Given the description of an element on the screen output the (x, y) to click on. 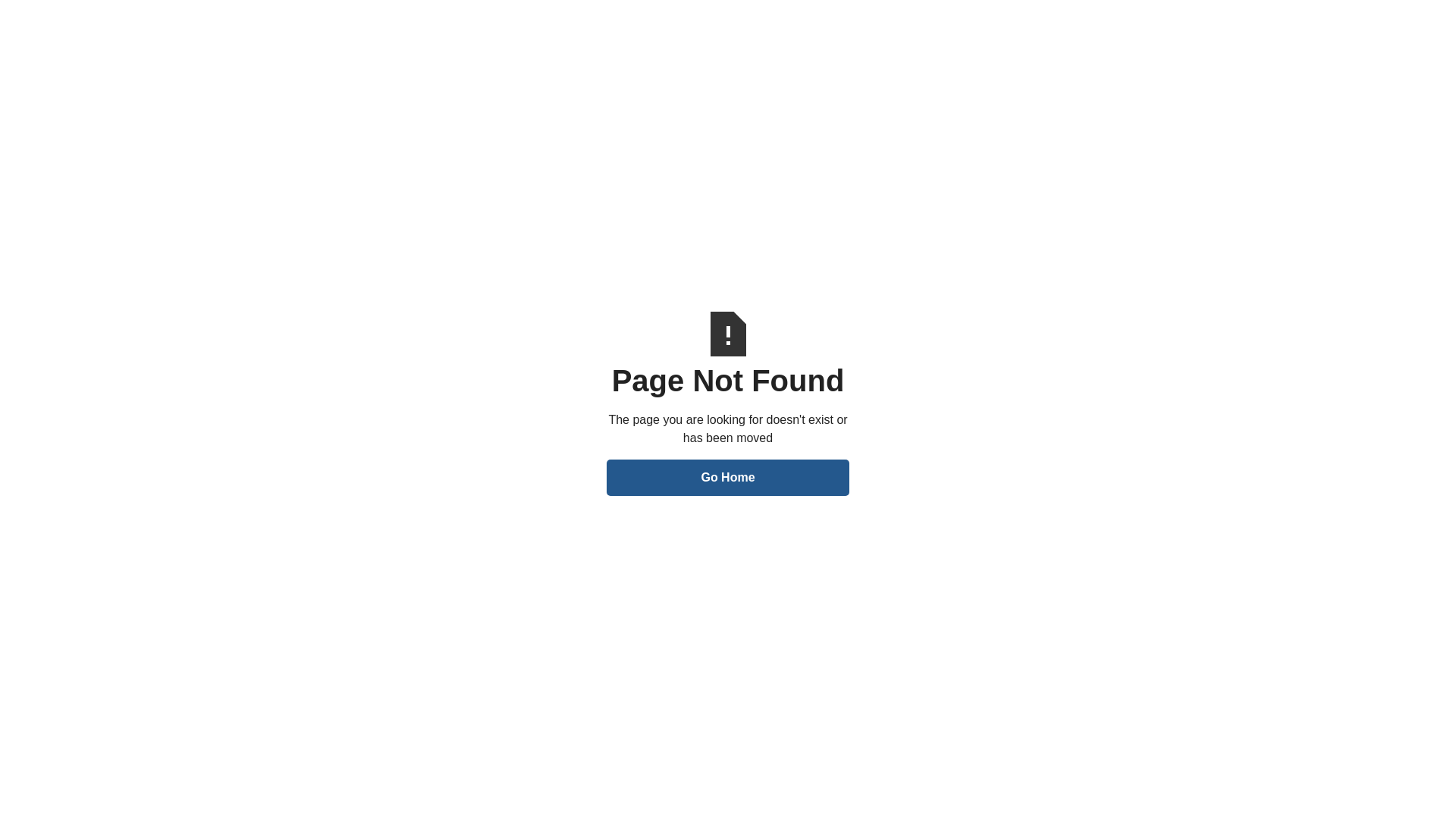
Go Home Element type: text (727, 477)
